Given the description of an element on the screen output the (x, y) to click on. 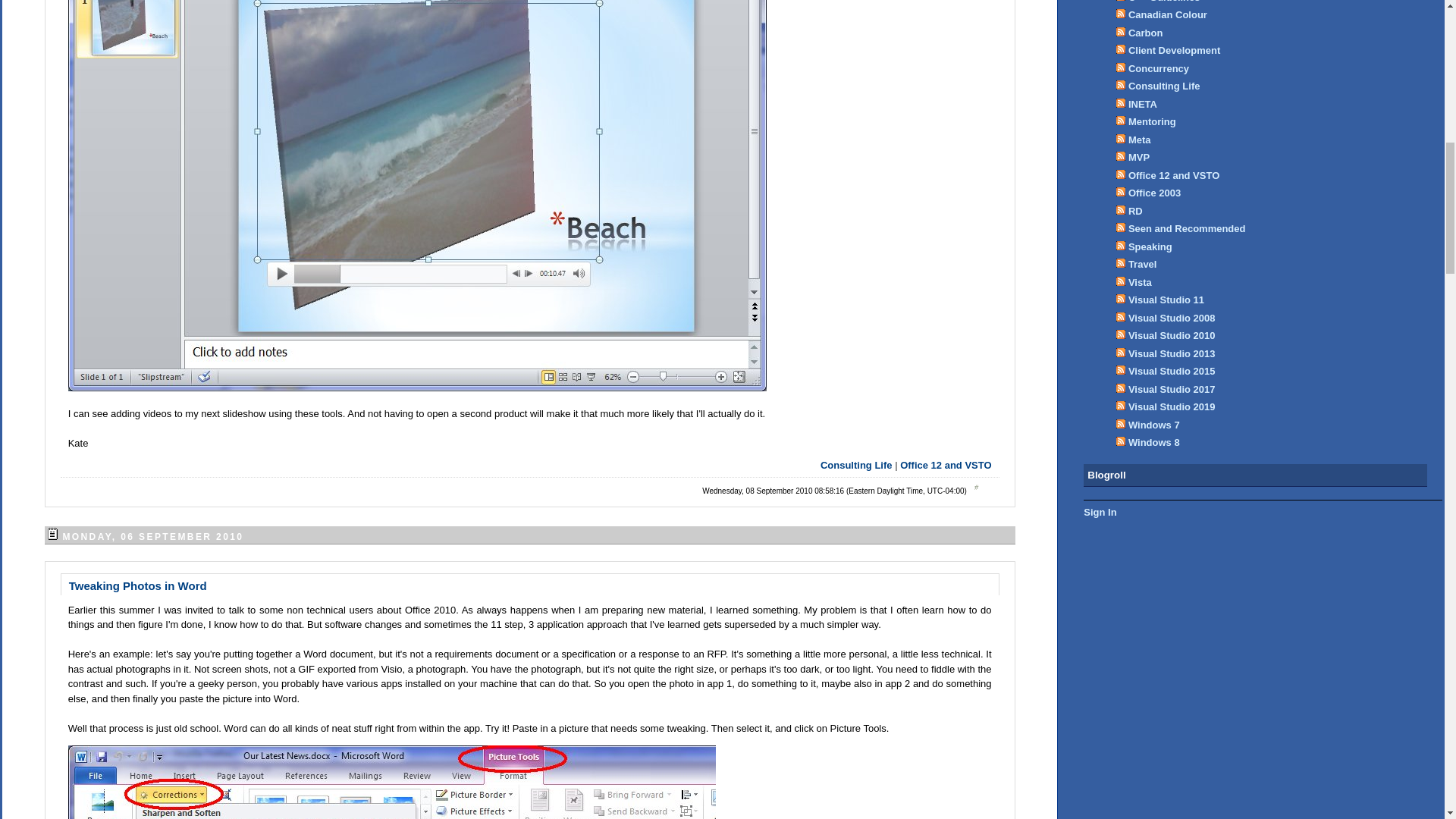
Tweaking Photos in Word (137, 585)
Office 12 and VSTO (945, 464)
Consulting Life (856, 464)
